Given the description of an element on the screen output the (x, y) to click on. 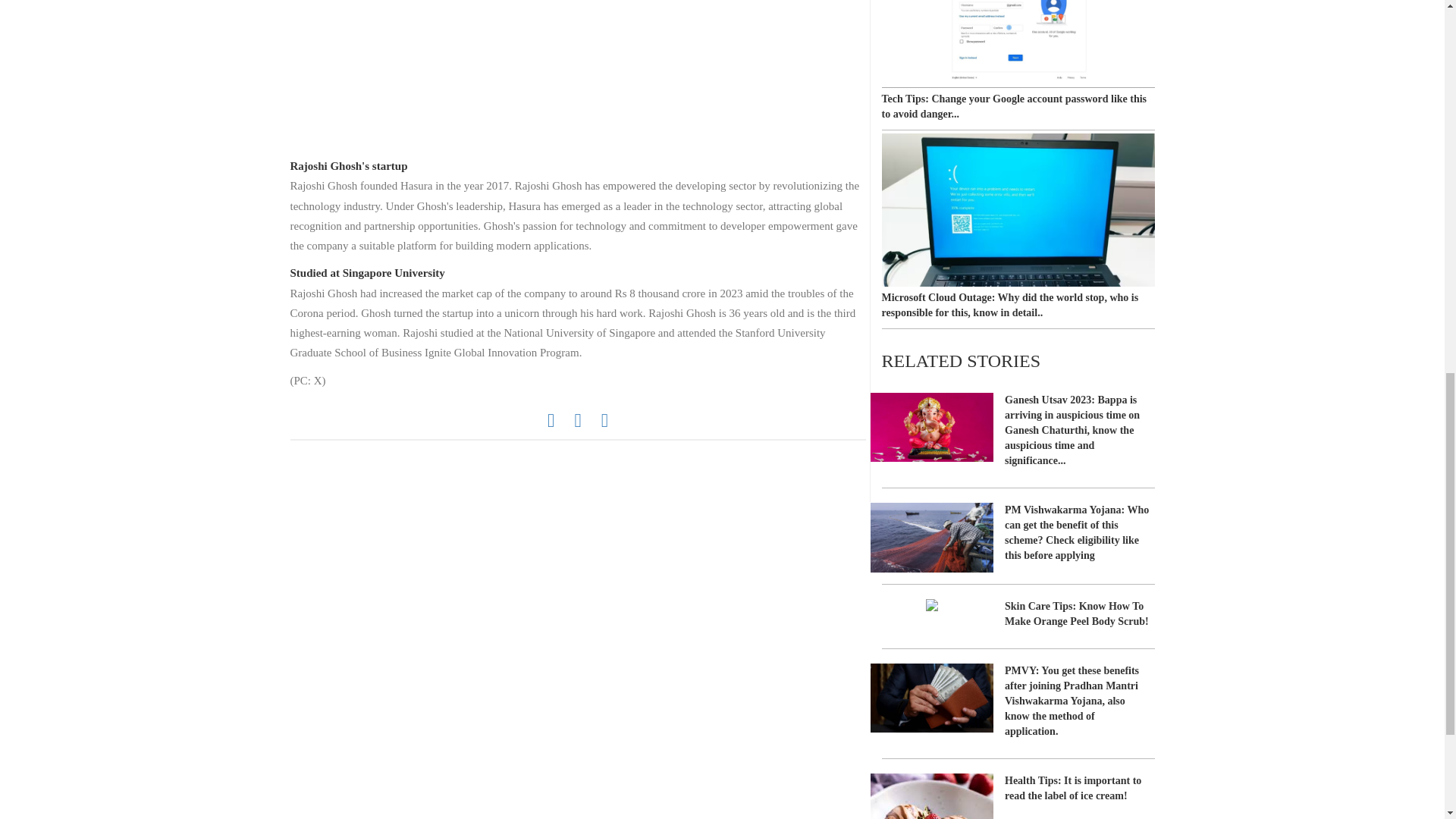
Advertisement (576, 73)
Skin Care Tips: Know How To Make Orange Peel Body Scrub! (1018, 618)
Health Tips: It is important to read the label of ice cream! (1018, 790)
